Given the description of an element on the screen output the (x, y) to click on. 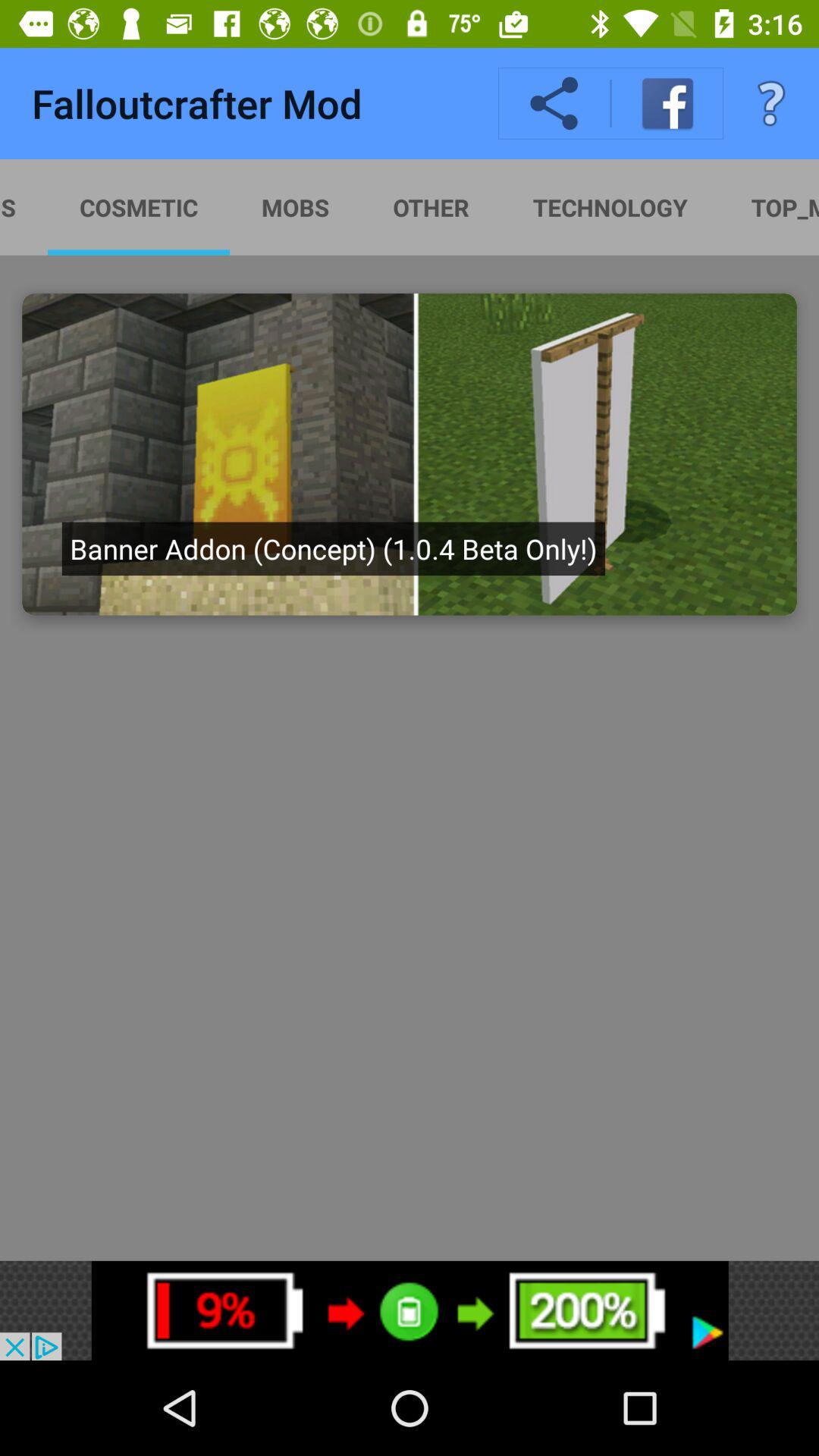
battery charging indicators (409, 1310)
